Given the description of an element on the screen output the (x, y) to click on. 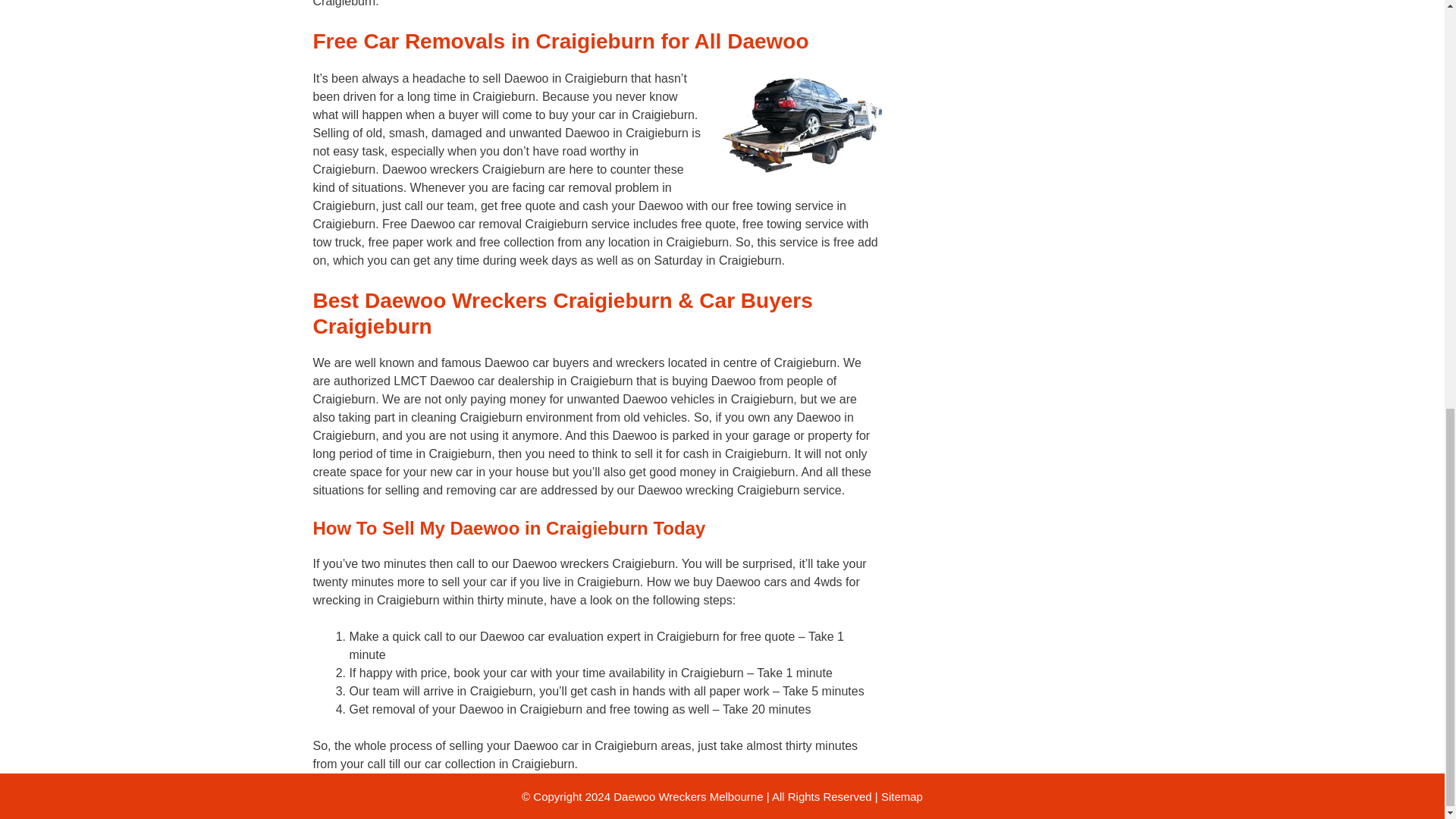
Sitemap (901, 796)
Daewoo Wreckers Melbourne (687, 796)
daewoo car removal Craigieburn (801, 126)
